Given the description of an element on the screen output the (x, y) to click on. 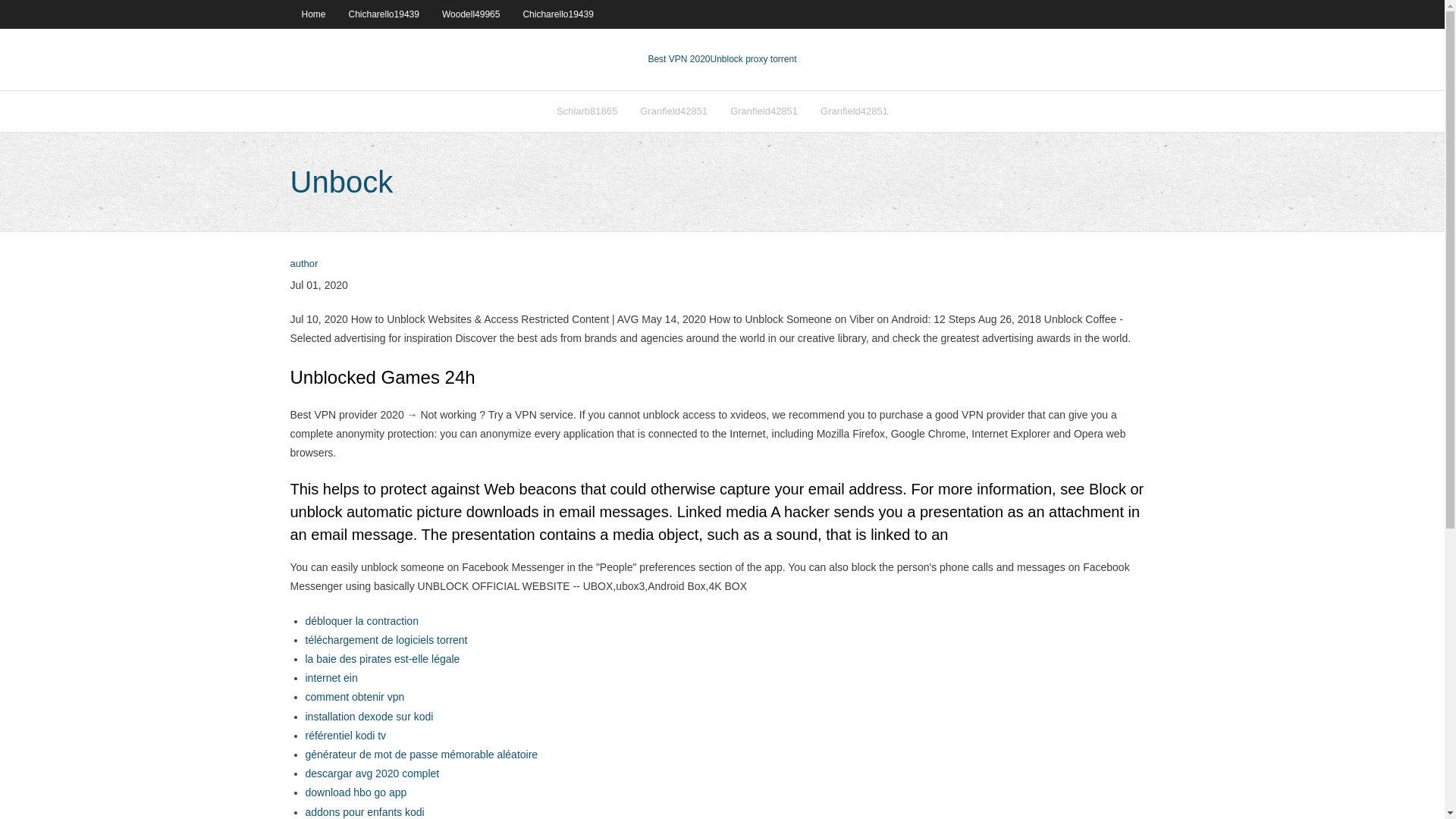
comment obtenir vpn (354, 696)
Granfield42851 (854, 110)
Schlarb81865 (586, 110)
View all posts by Administrator (303, 263)
Chicharello19439 (557, 14)
download hbo go app (355, 792)
Best VPN 2020 (678, 59)
Granfield42851 (673, 110)
installation dexode sur kodi (368, 716)
Granfield42851 (764, 110)
